Given the description of an element on the screen output the (x, y) to click on. 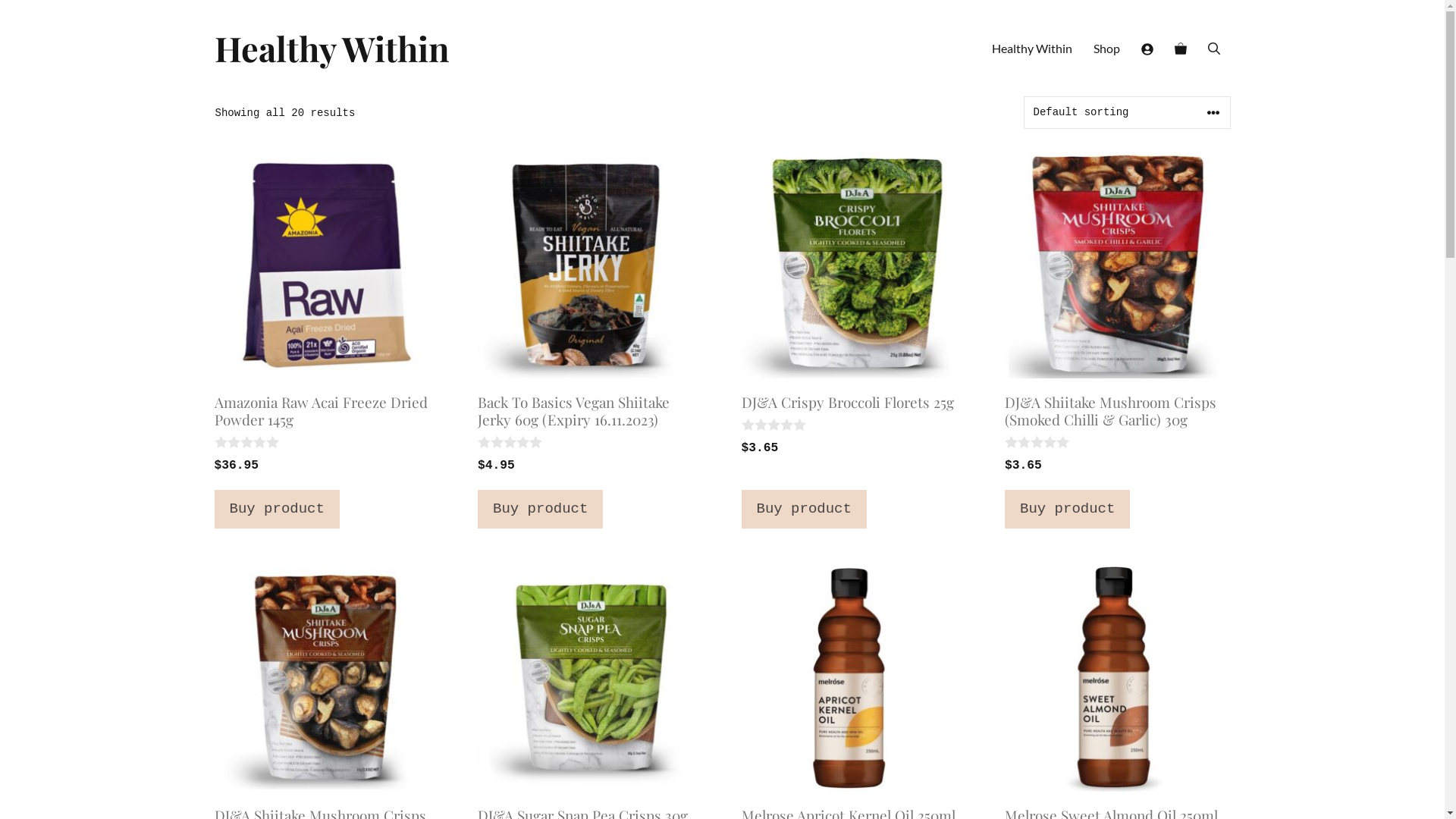
Not yet rated Element type: hover (774, 424)
Not yet rated Element type: hover (1037, 442)
Not yet rated Element type: hover (246, 442)
Healthy Within Element type: text (330, 48)
Not yet rated Element type: hover (510, 442)
DJ&A Crispy Broccoli Florets 25g
$3.65 Element type: text (854, 305)
Buy product Element type: text (1066, 508)
Buy product Element type: text (275, 508)
Amazonia Raw Acai Freeze Dried Powder 145g
$36.95 Element type: text (326, 313)
Shop Element type: text (1106, 48)
Buy product Element type: text (803, 508)
View your shopping cart Element type: hover (1179, 48)
Buy product Element type: text (539, 508)
Healthy Within Element type: text (1031, 48)
